Given the description of an element on the screen output the (x, y) to click on. 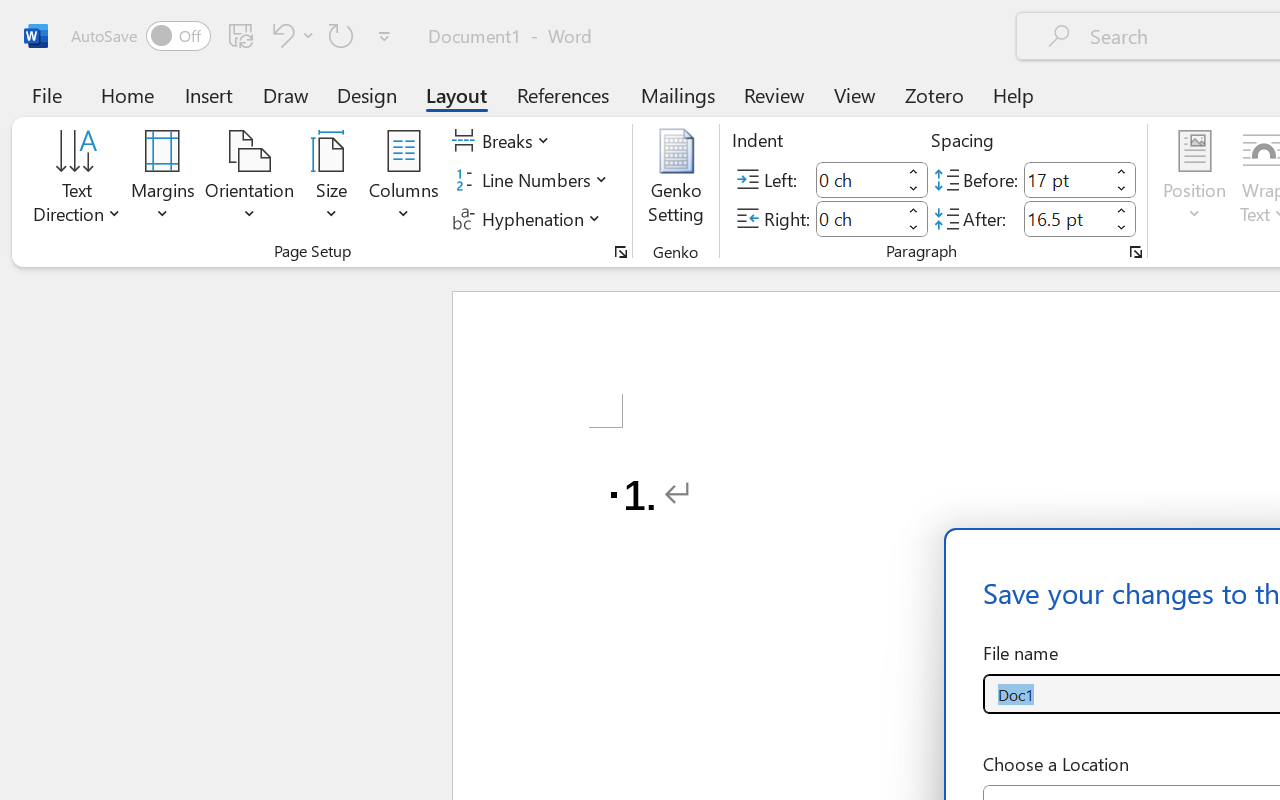
Repeat Doc Close (341, 35)
Undo Number Default (290, 35)
Genko Setting... (676, 179)
Size (331, 179)
Orientation (250, 179)
Position (1194, 179)
More (1121, 210)
Columns (404, 179)
Page Setup... (621, 252)
